Given the description of an element on the screen output the (x, y) to click on. 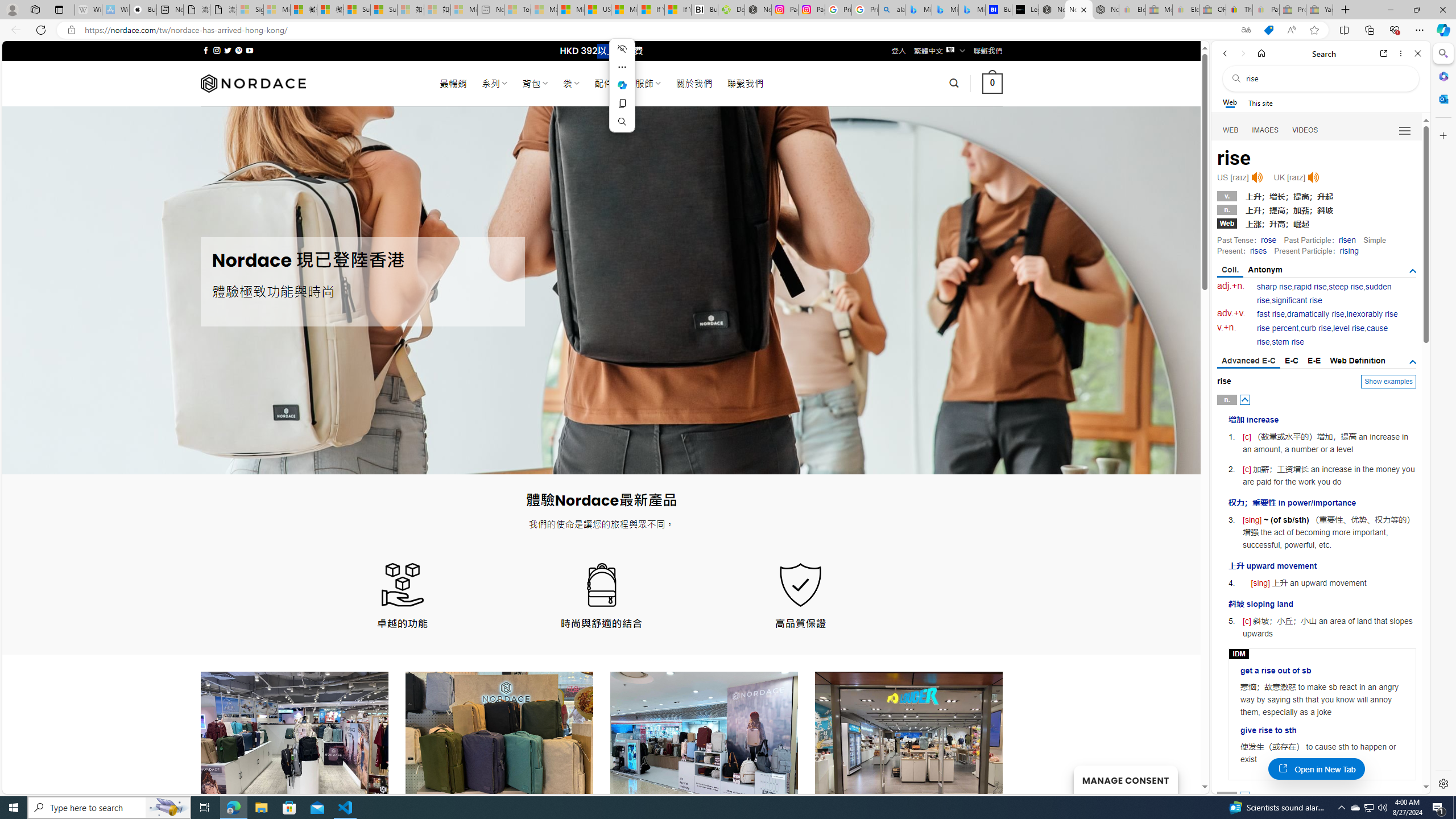
Coll. (1230, 270)
